Given the description of an element on the screen output the (x, y) to click on. 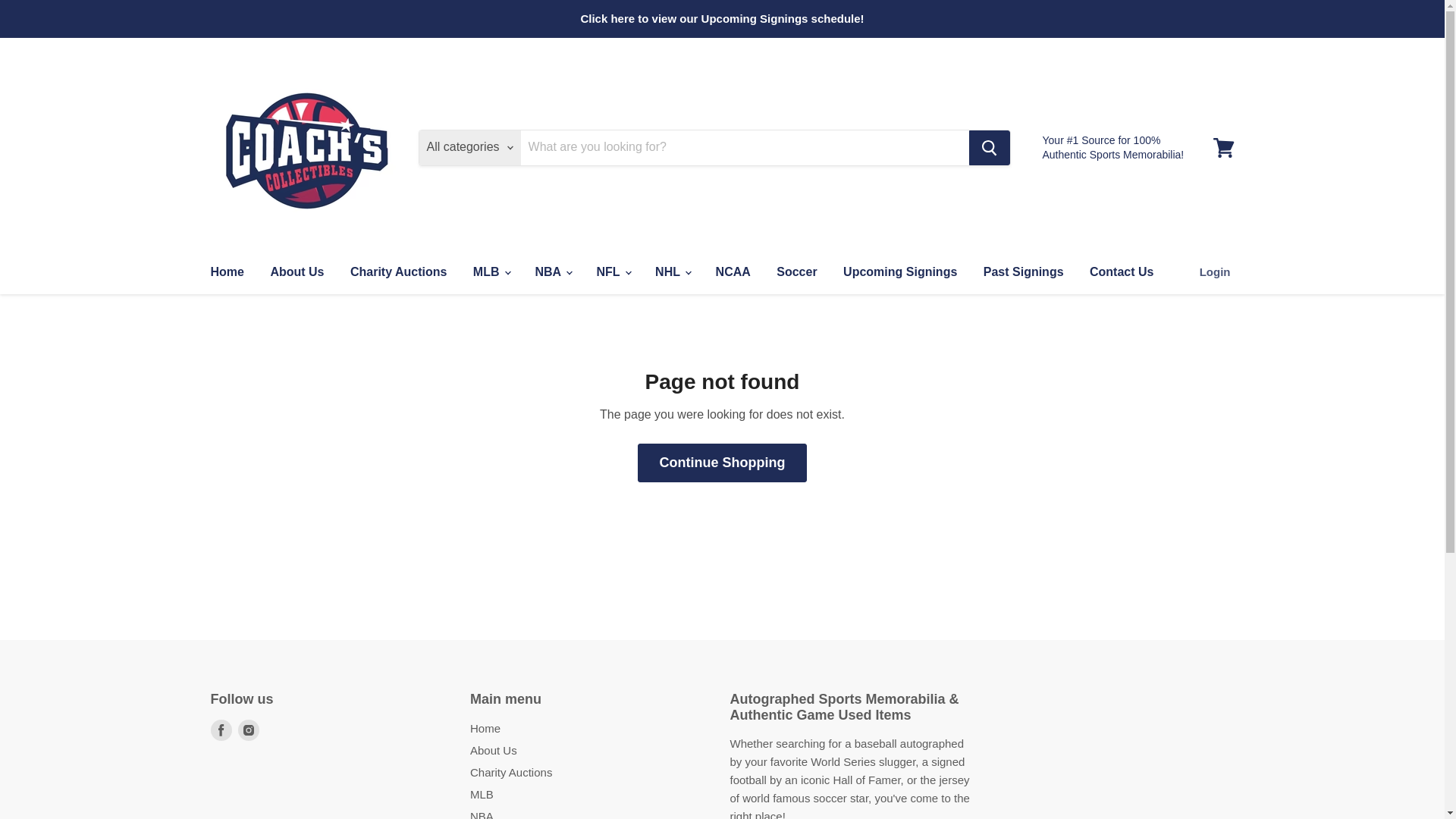
MLB (490, 272)
View cart (1223, 147)
Home (226, 272)
Facebook (221, 730)
Charity Auctions (398, 272)
About Us (296, 272)
Instagram (248, 730)
